Given the description of an element on the screen output the (x, y) to click on. 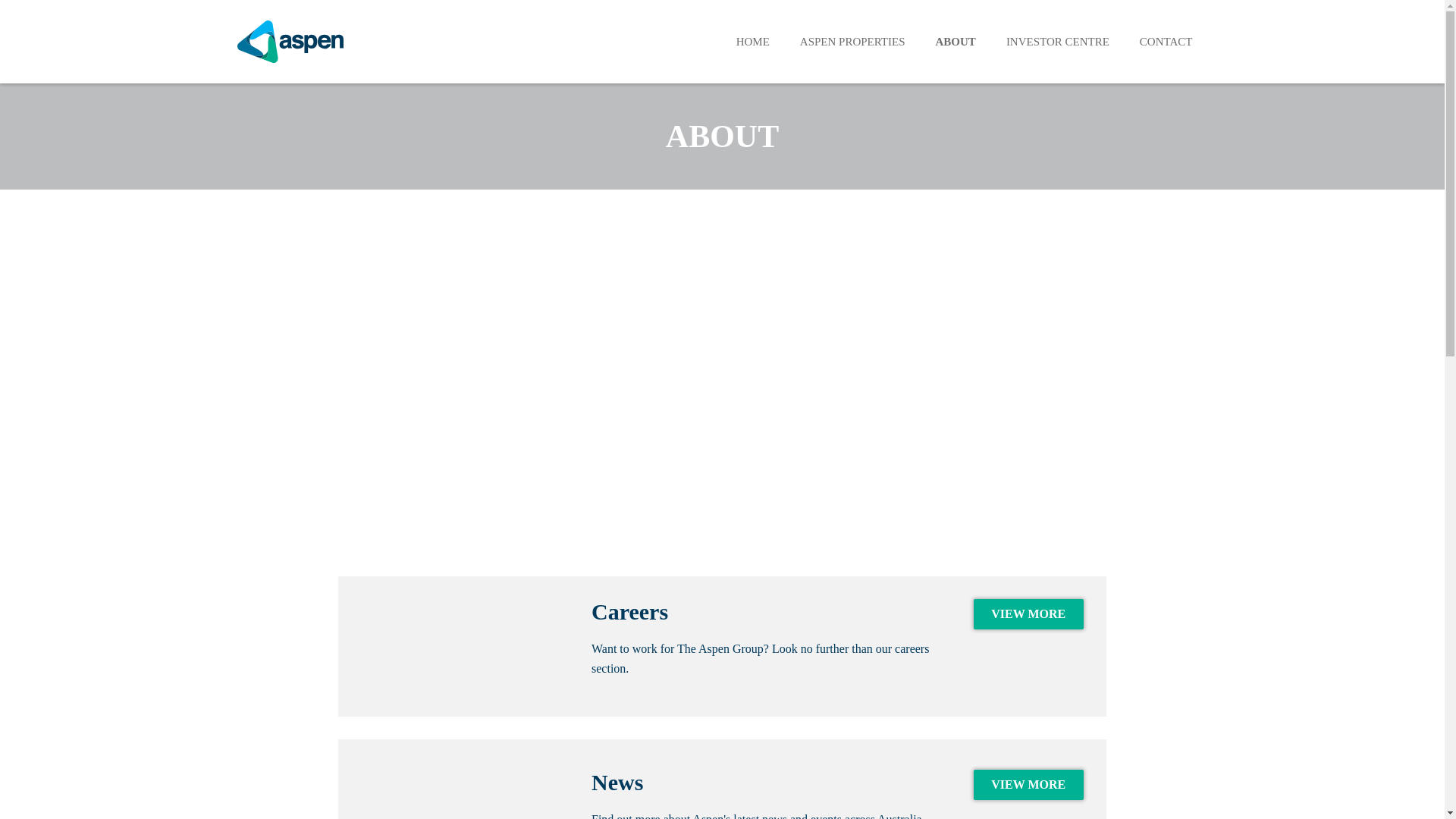
INVESTOR CENTRE Element type: text (1057, 40)
ABOUT Element type: text (955, 40)
CONTACT Element type: text (1166, 40)
VIEW MORE Element type: text (1028, 614)
VIEW MORE Element type: text (1028, 784)
HOME Element type: text (752, 40)
ASPEN PROPERTIES Element type: text (852, 40)
